Given the description of an element on the screen output the (x, y) to click on. 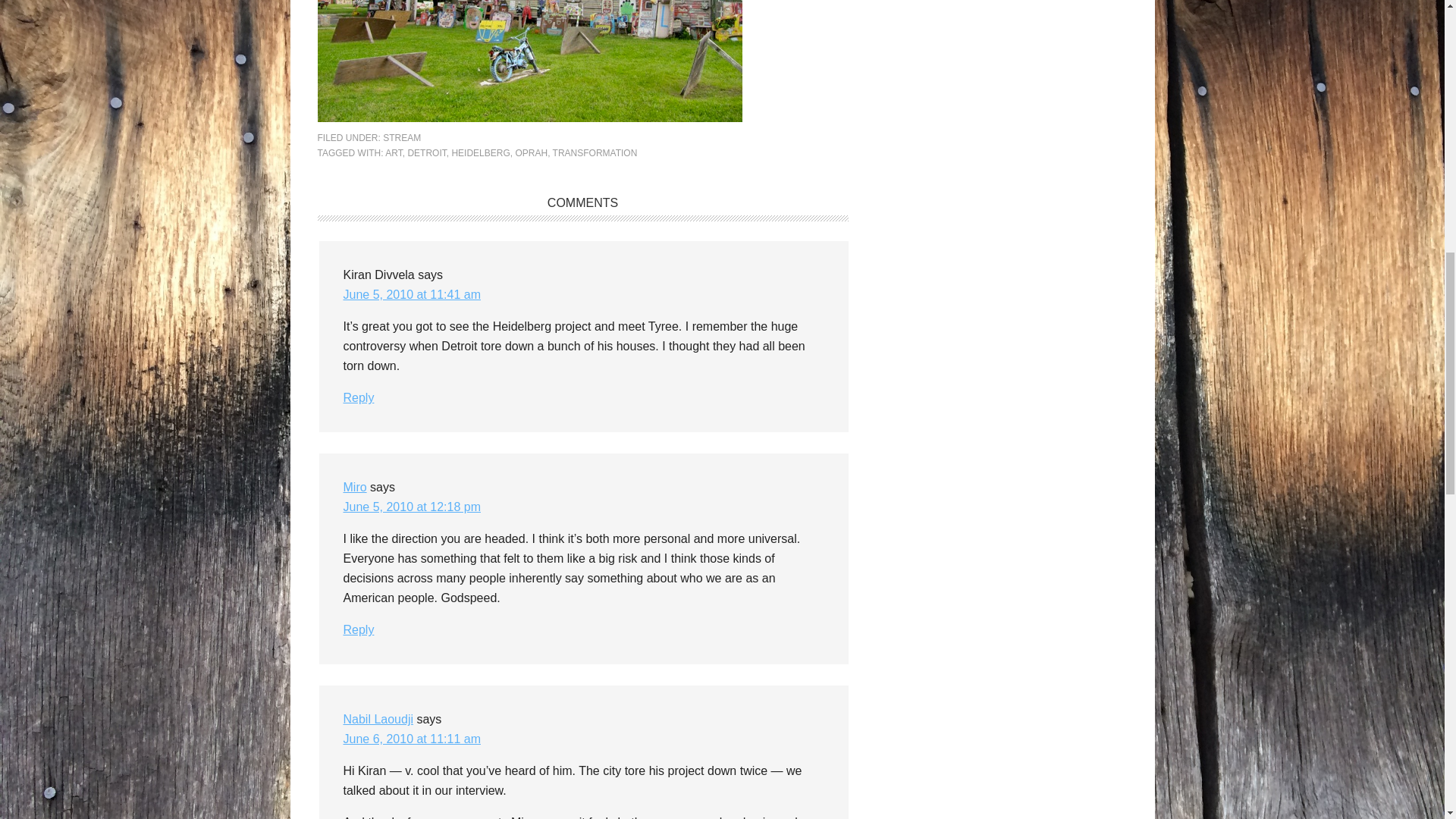
ART (393, 153)
Reply (358, 397)
STREAM (401, 137)
DETROIT (426, 153)
HEIDELBERG (480, 153)
Reply (358, 629)
Nabil Laoudji (377, 718)
Miro (354, 486)
TRANSFORMATION (595, 153)
June 5, 2010 at 12:18 pm (411, 506)
